Given the description of an element on the screen output the (x, y) to click on. 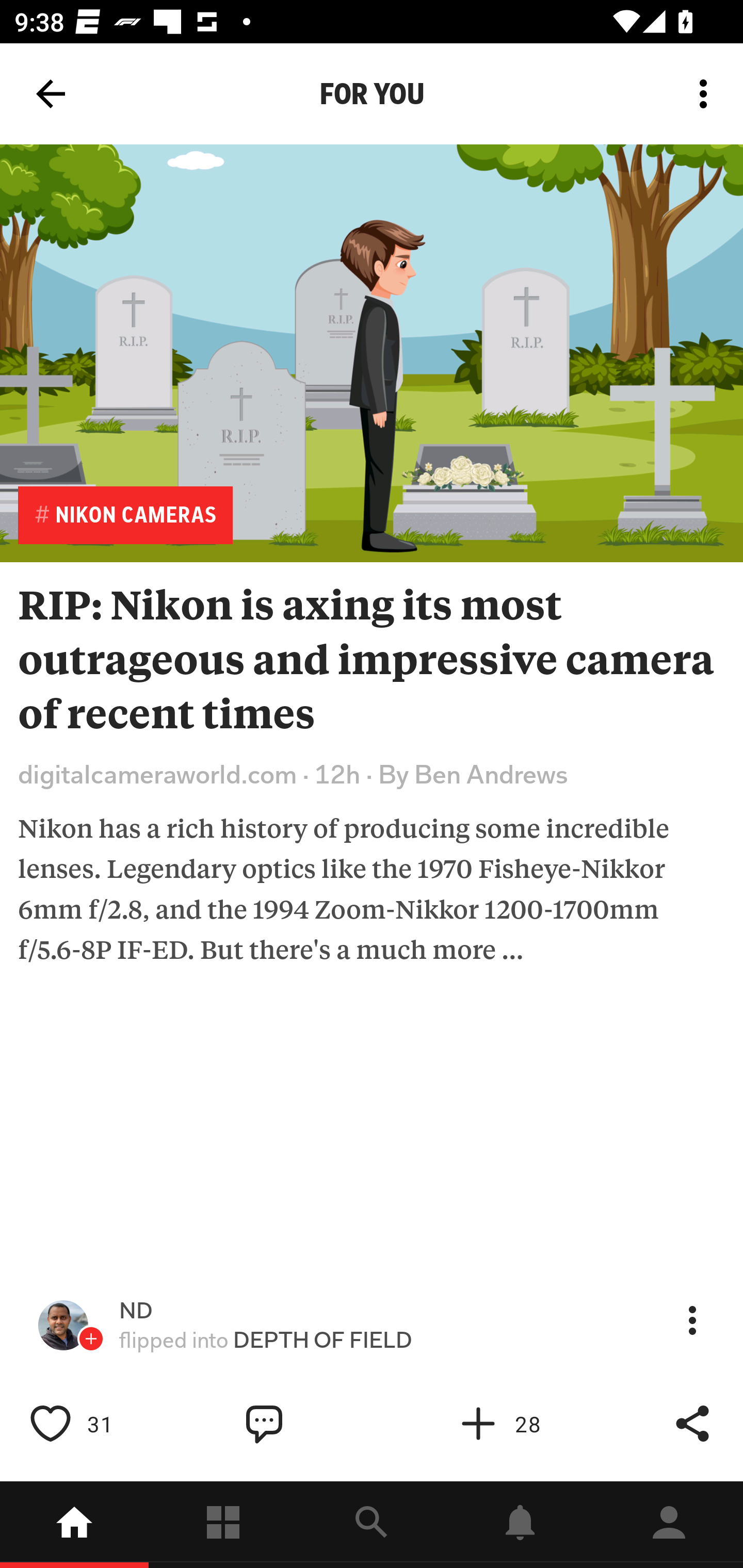
Back (50, 93)
FOR YOU (371, 93)
More options (706, 93)
# NIKON CAMERAS (124, 515)
More (692, 1319)
ND (135, 1310)
flipped into DEPTH OF FIELD (265, 1339)
Like 31 (93, 1423)
Write a comment… (307, 1423)
Flip into Magazine 28 (521, 1423)
Share (692, 1423)
home (74, 1524)
Following (222, 1524)
explore (371, 1524)
Notifications (519, 1524)
Profile (668, 1524)
